Given the description of an element on the screen output the (x, y) to click on. 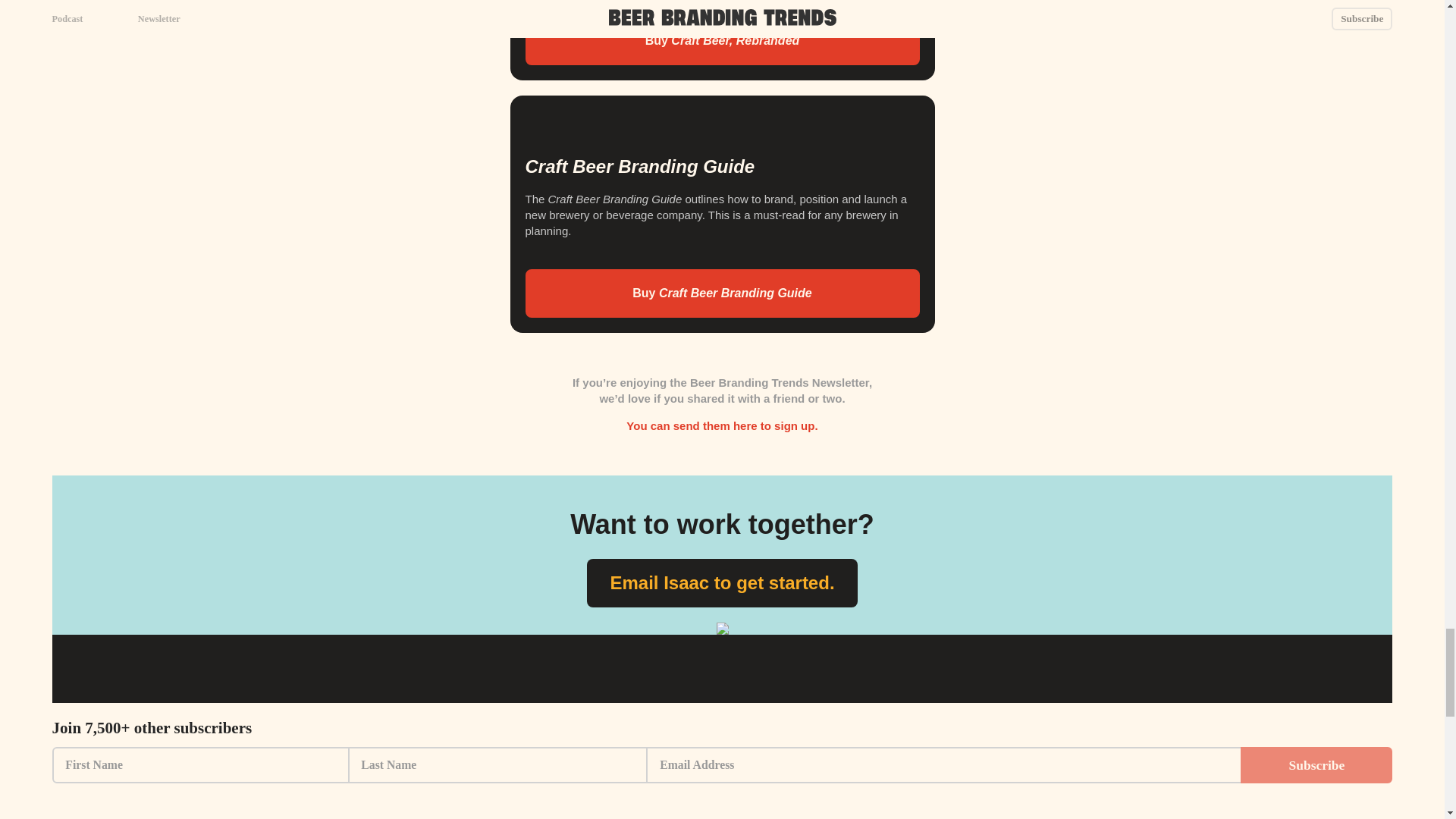
Buy Craft Beer, Rebranded (721, 40)
You can send them here to sign up. (721, 425)
Email Isaac to get started. (721, 582)
Buy Craft Beer Branding Guide (721, 293)
